Given the description of an element on the screen output the (x, y) to click on. 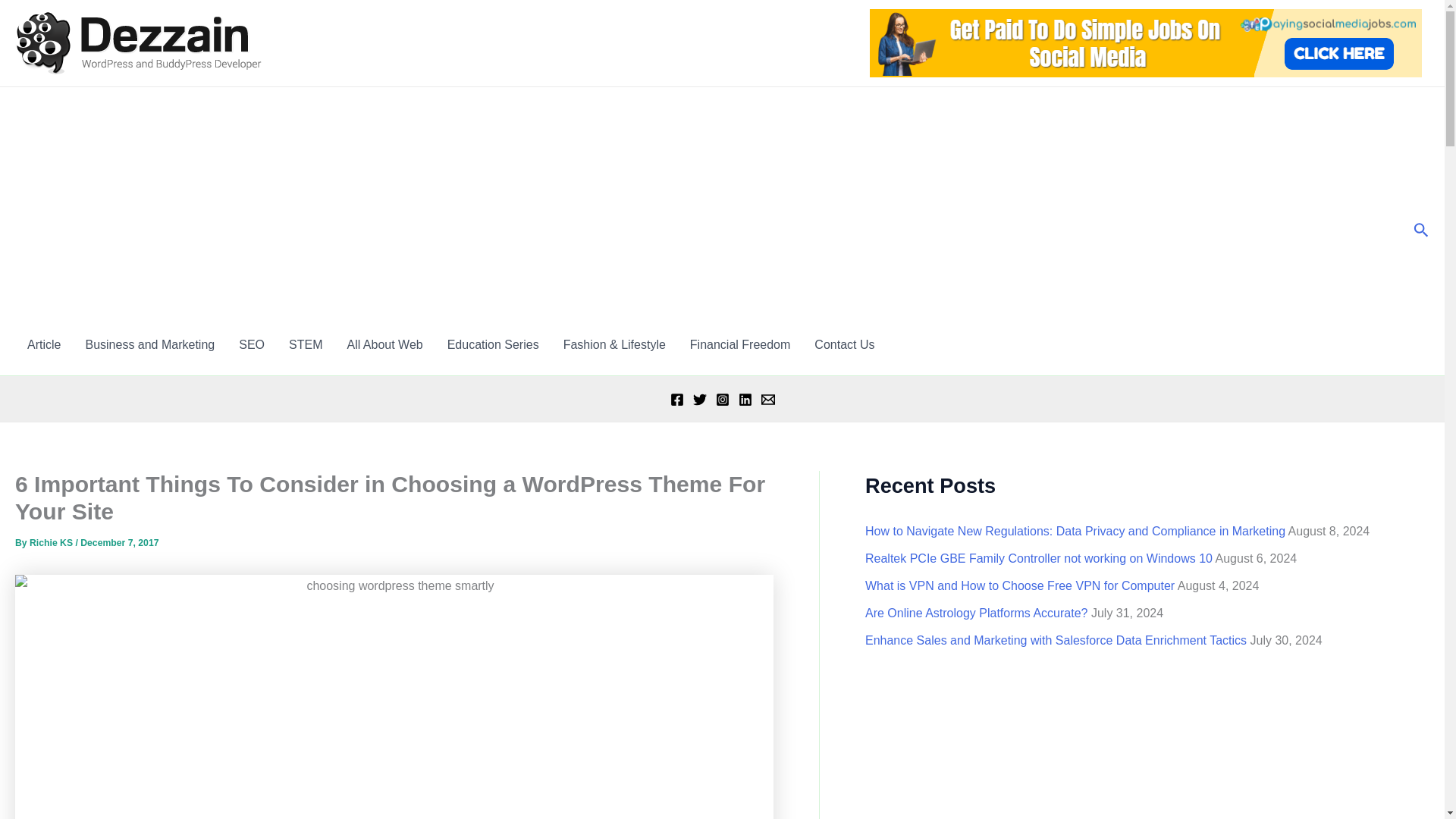
Contact Us (844, 344)
All About Web (383, 344)
STEM (305, 344)
Richie KS (52, 542)
any inquiries? (844, 344)
Article (43, 344)
Business and Marketing (149, 344)
Financial Freedom (740, 344)
View all posts by Richie KS (52, 542)
